Given the description of an element on the screen output the (x, y) to click on. 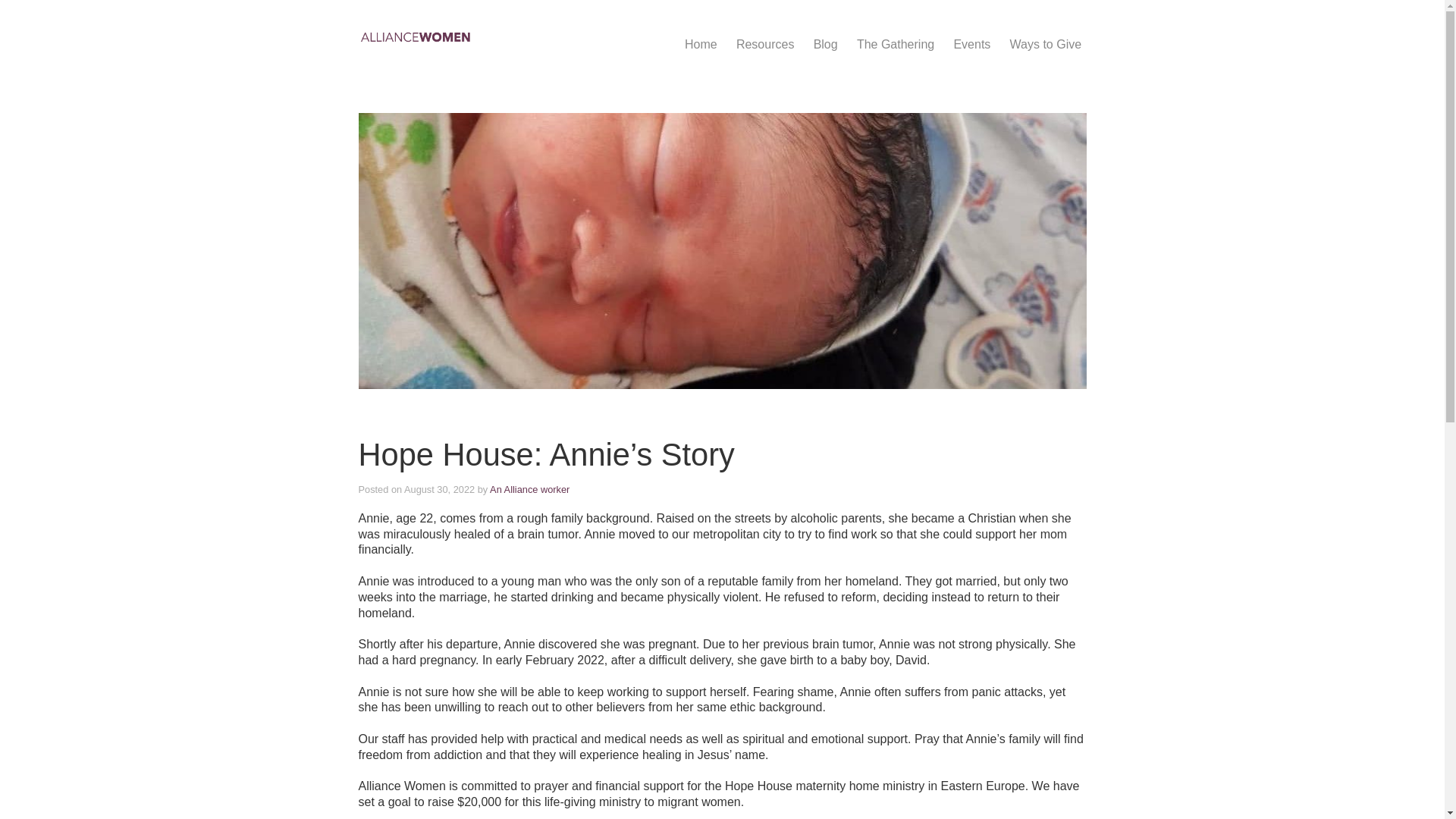
Home (700, 44)
Ways to Give (1045, 44)
Events (972, 44)
Resources (765, 44)
Blog (825, 44)
An Alliance worker (529, 489)
Alliance Women (503, 36)
The Gathering (895, 44)
